Given the description of an element on the screen output the (x, y) to click on. 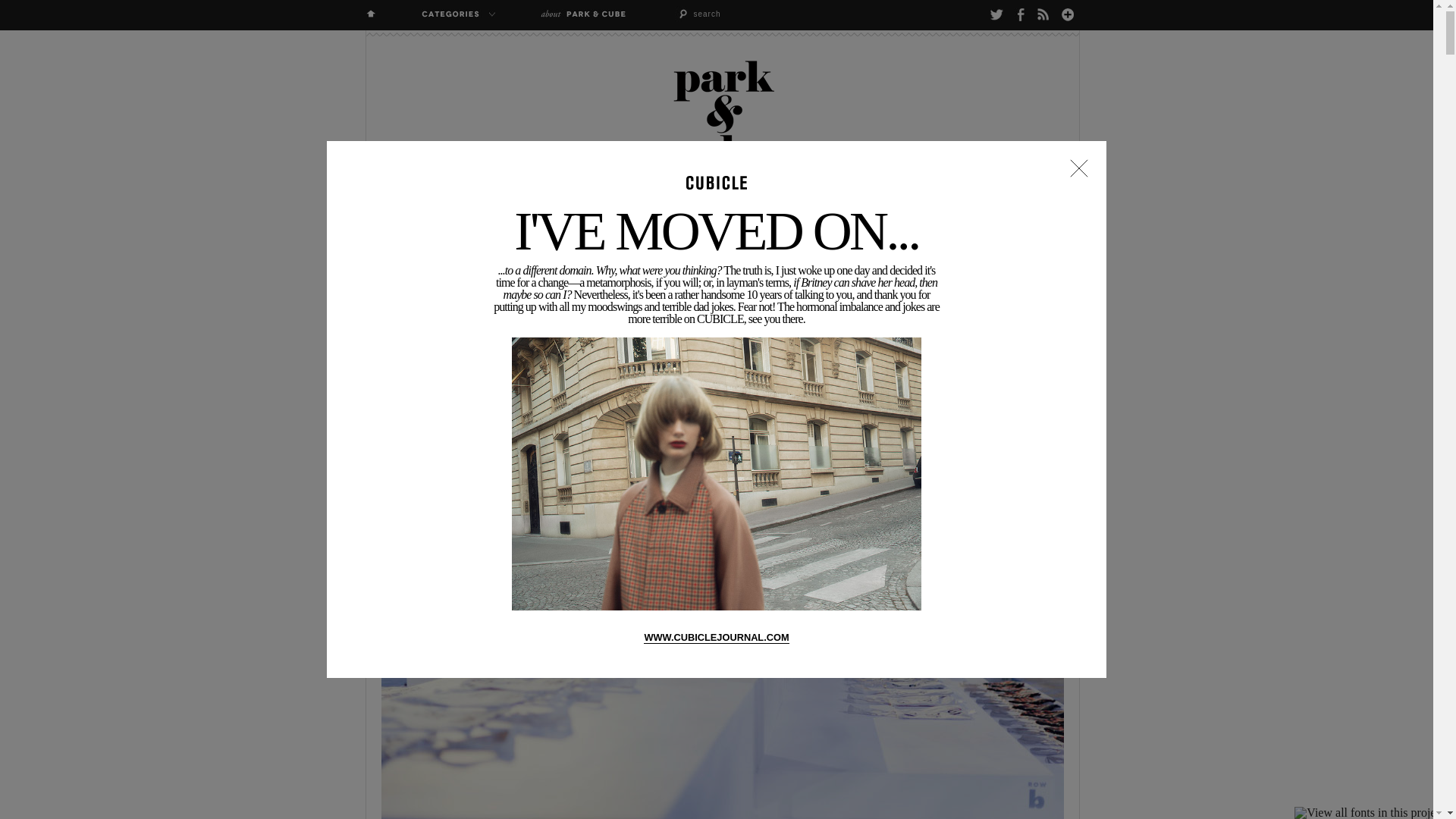
WWW.CUBICLEJOURNAL.COM (716, 637)
search (733, 13)
